Given the description of an element on the screen output the (x, y) to click on. 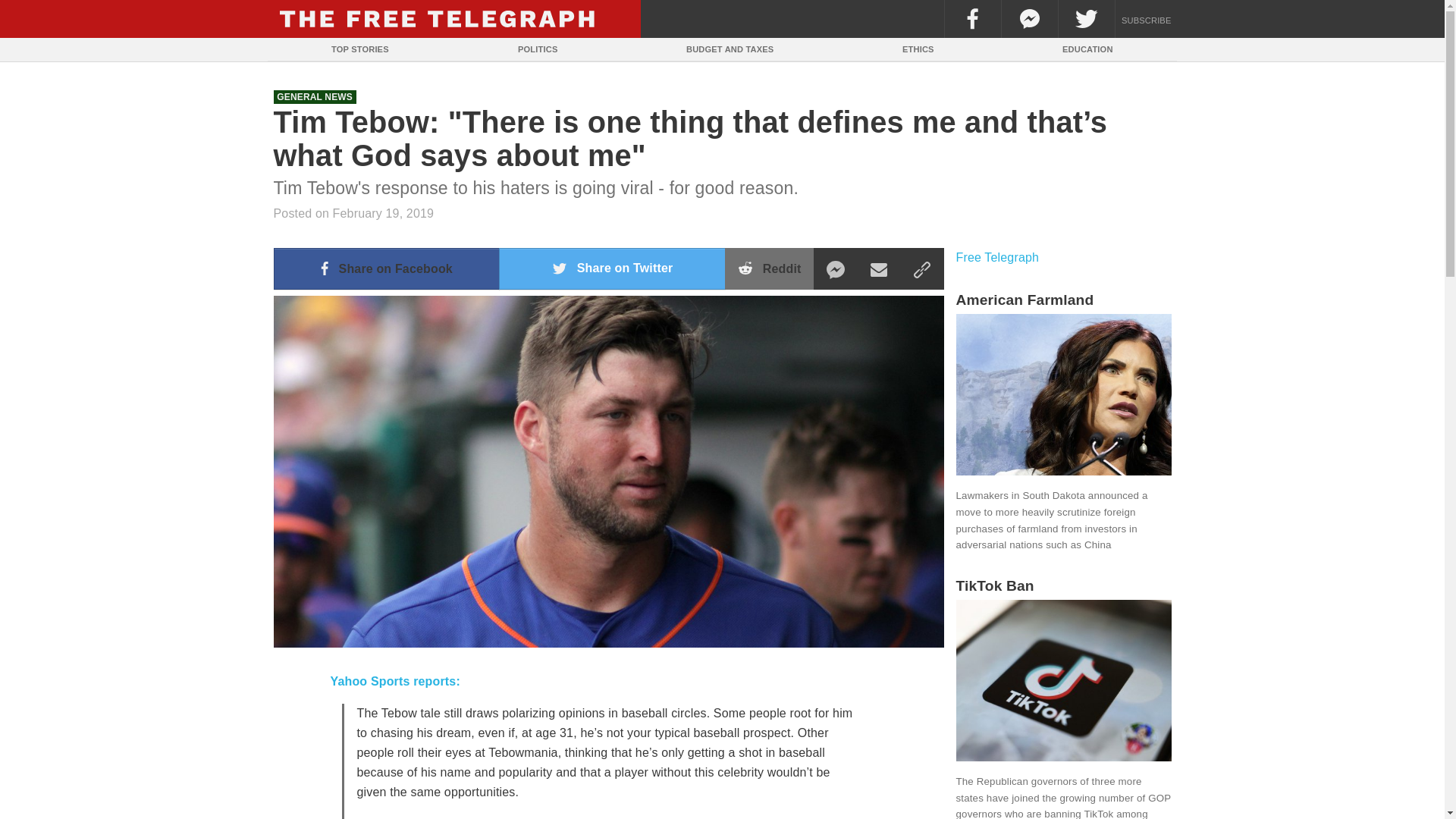
Copy To Clipboard (921, 268)
POLITICS (537, 48)
Share on Twitter (612, 268)
TOP STORIES (359, 48)
American Farmland (1062, 299)
Send Mail (879, 268)
TikTok Ban (1062, 585)
BUDGET AND TAXES (728, 48)
Yahoo Sports reports: (395, 680)
